Given the description of an element on the screen output the (x, y) to click on. 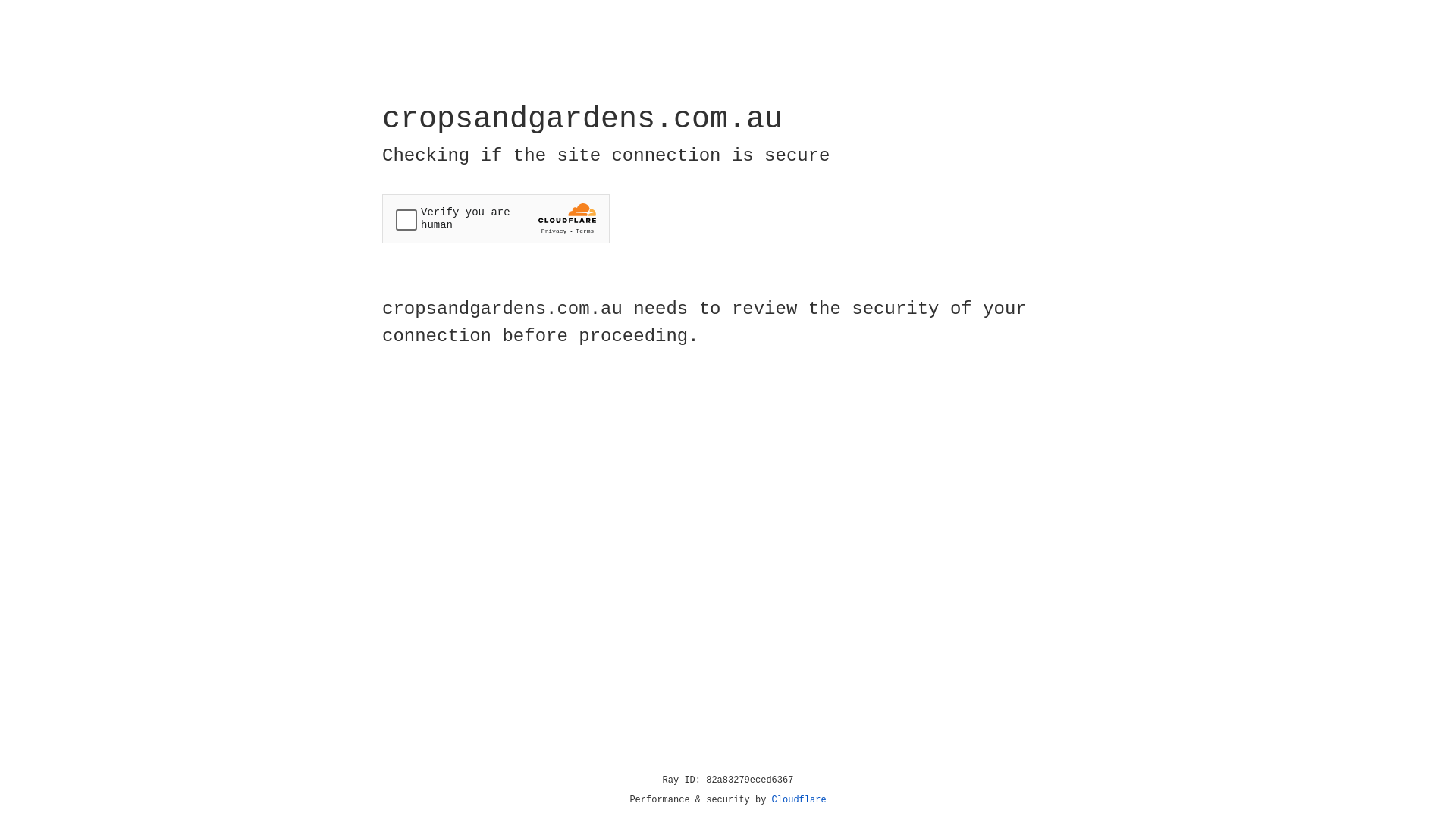
Widget containing a Cloudflare security challenge Element type: hover (495, 218)
Cloudflare Element type: text (798, 799)
